Given the description of an element on the screen output the (x, y) to click on. 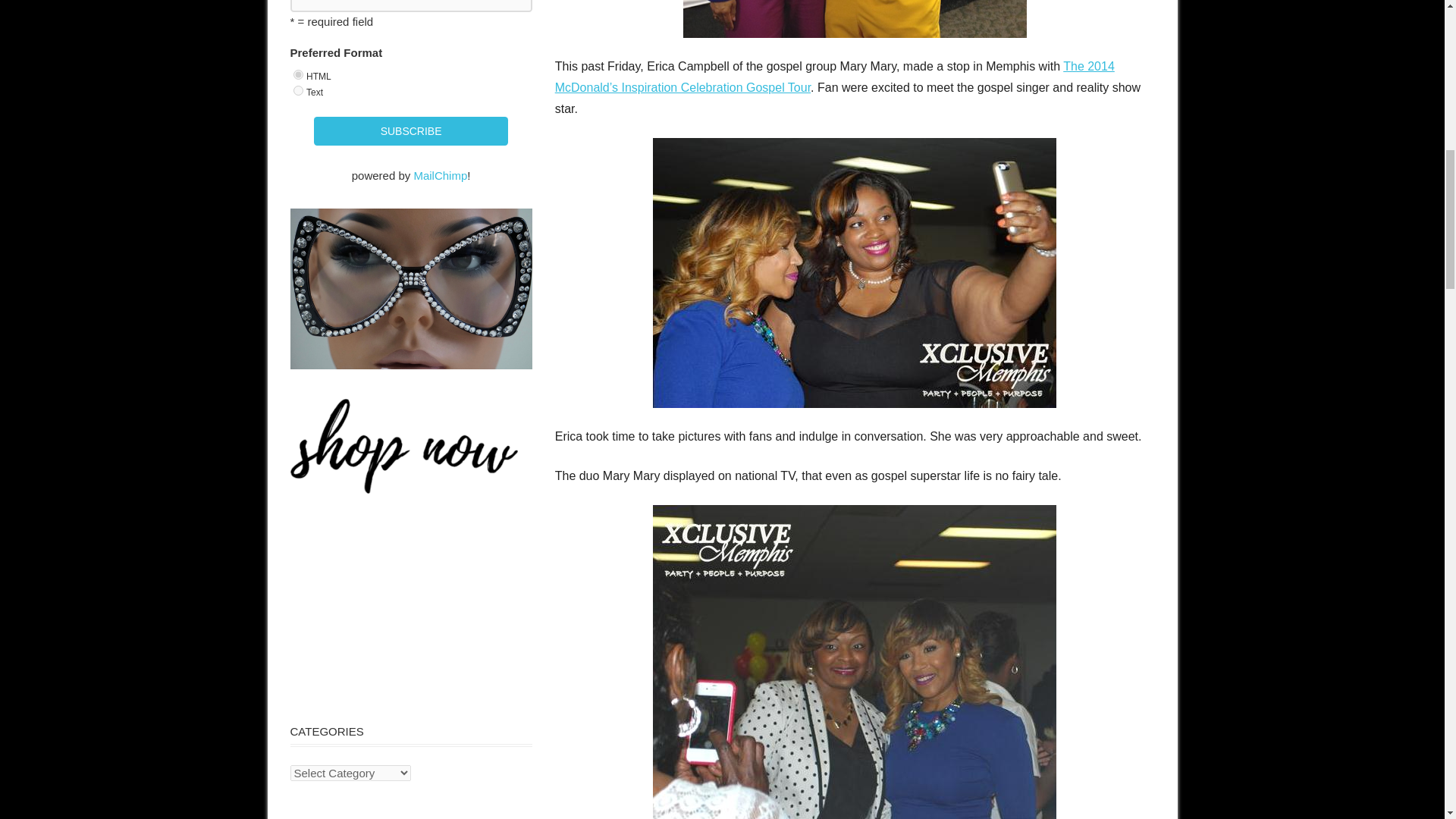
text (298, 90)
html (298, 74)
Subscribe (410, 131)
